Given the description of an element on the screen output the (x, y) to click on. 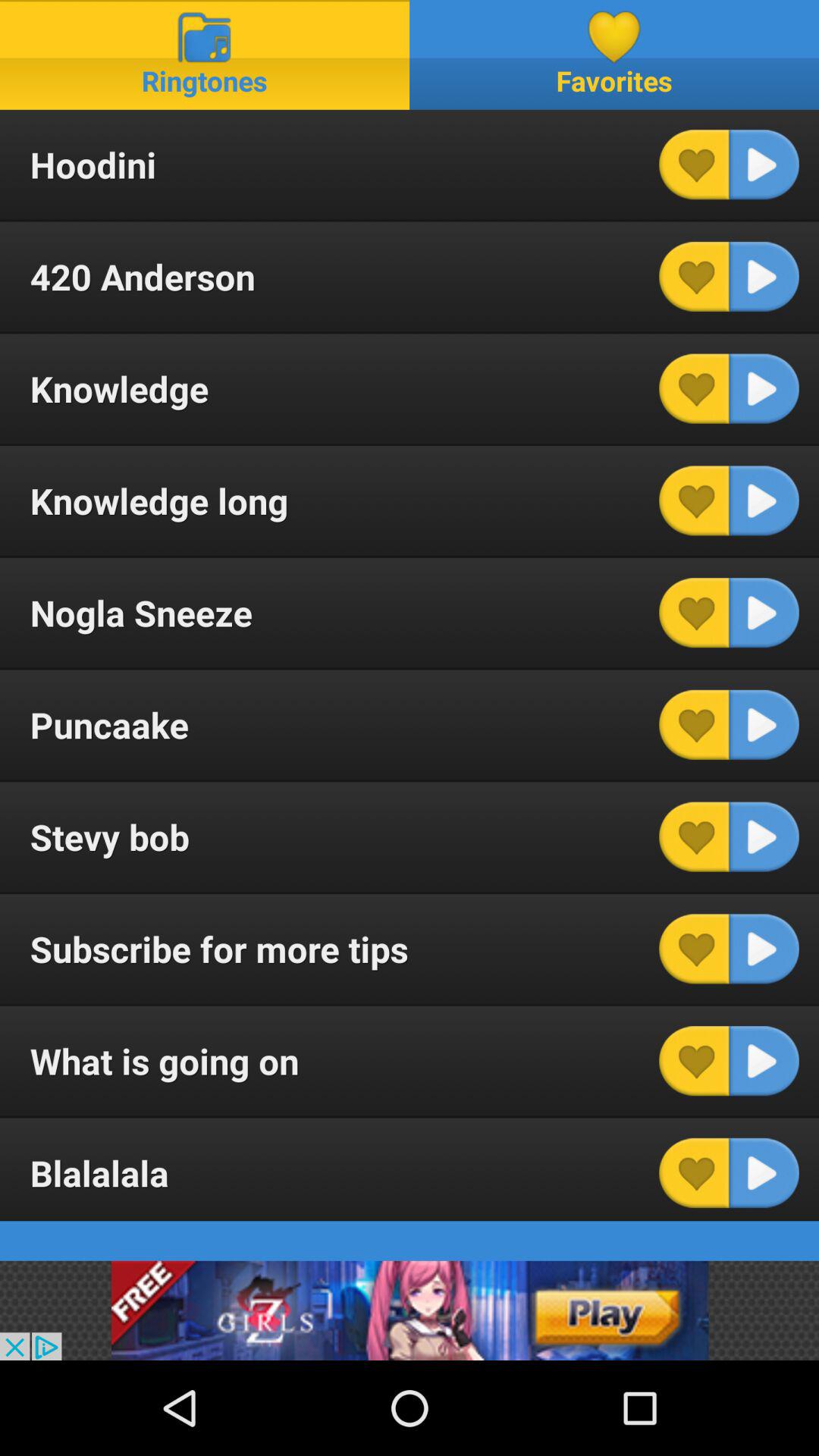
love this (694, 276)
